Given the description of an element on the screen output the (x, y) to click on. 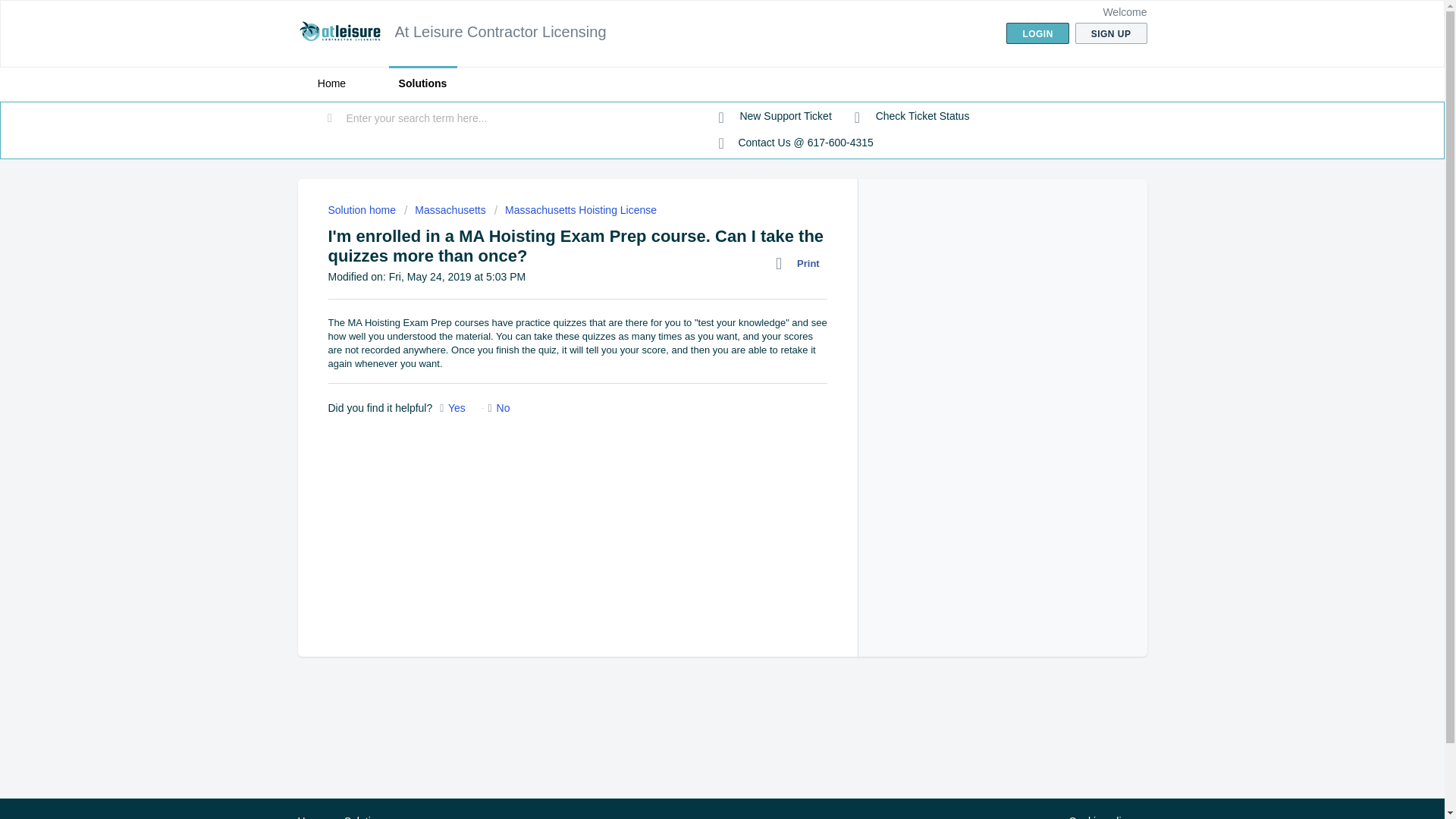
Why we love Cookies (1099, 816)
Home (331, 83)
Cookie policy (1099, 816)
Print (801, 263)
Check ticket status (911, 116)
Print this Article (801, 263)
SIGN UP (1111, 33)
Massachusetts (445, 209)
Home (310, 816)
LOGIN (1037, 33)
